Given the description of an element on the screen output the (x, y) to click on. 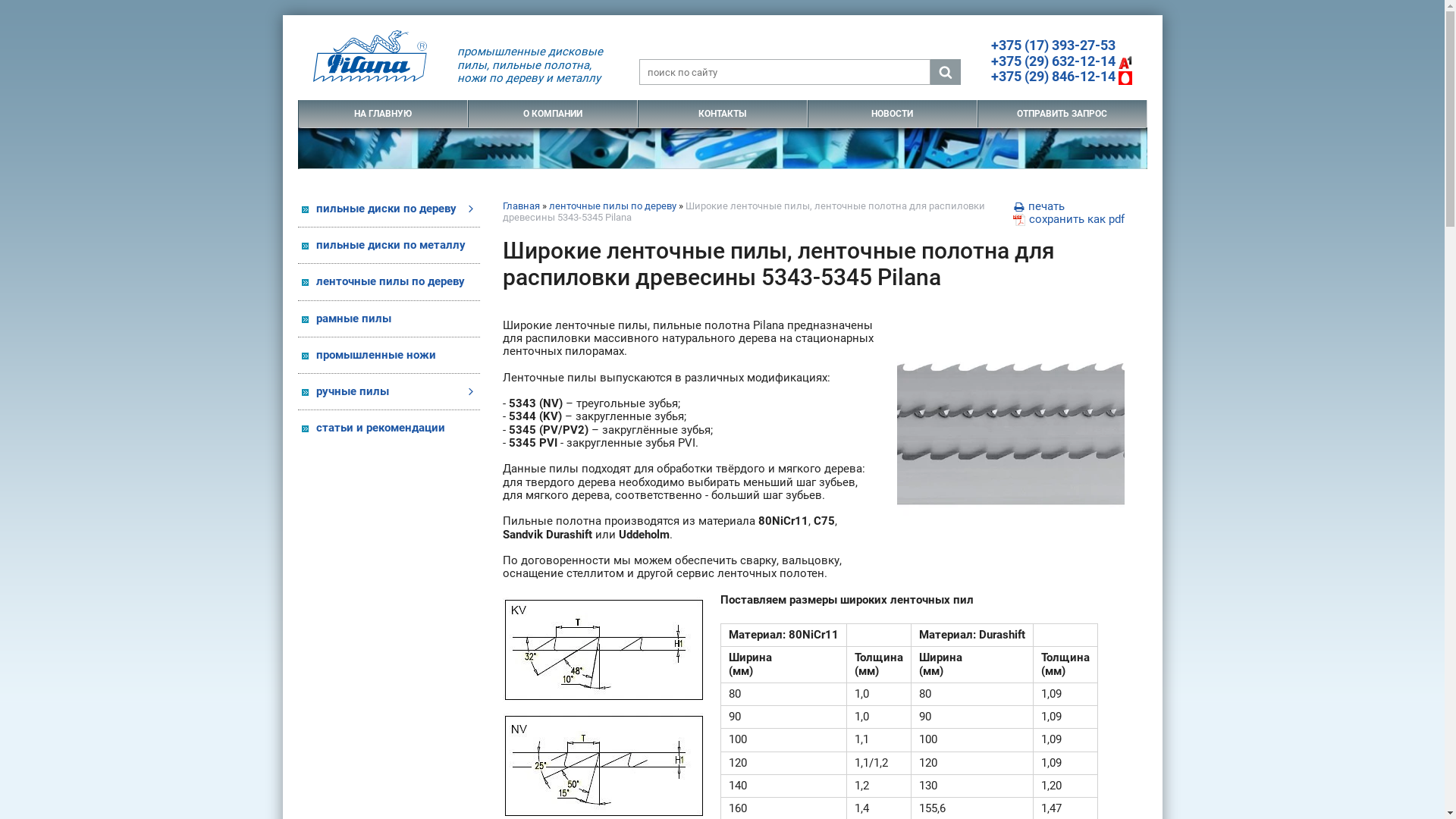
+375 (29) 846-12-14 Element type: text (1060, 76)
+375 (29) 632-12-14 Element type: text (1060, 61)
+375 (17) 393-27-53 Element type: text (1052, 45)
